Given the description of an element on the screen output the (x, y) to click on. 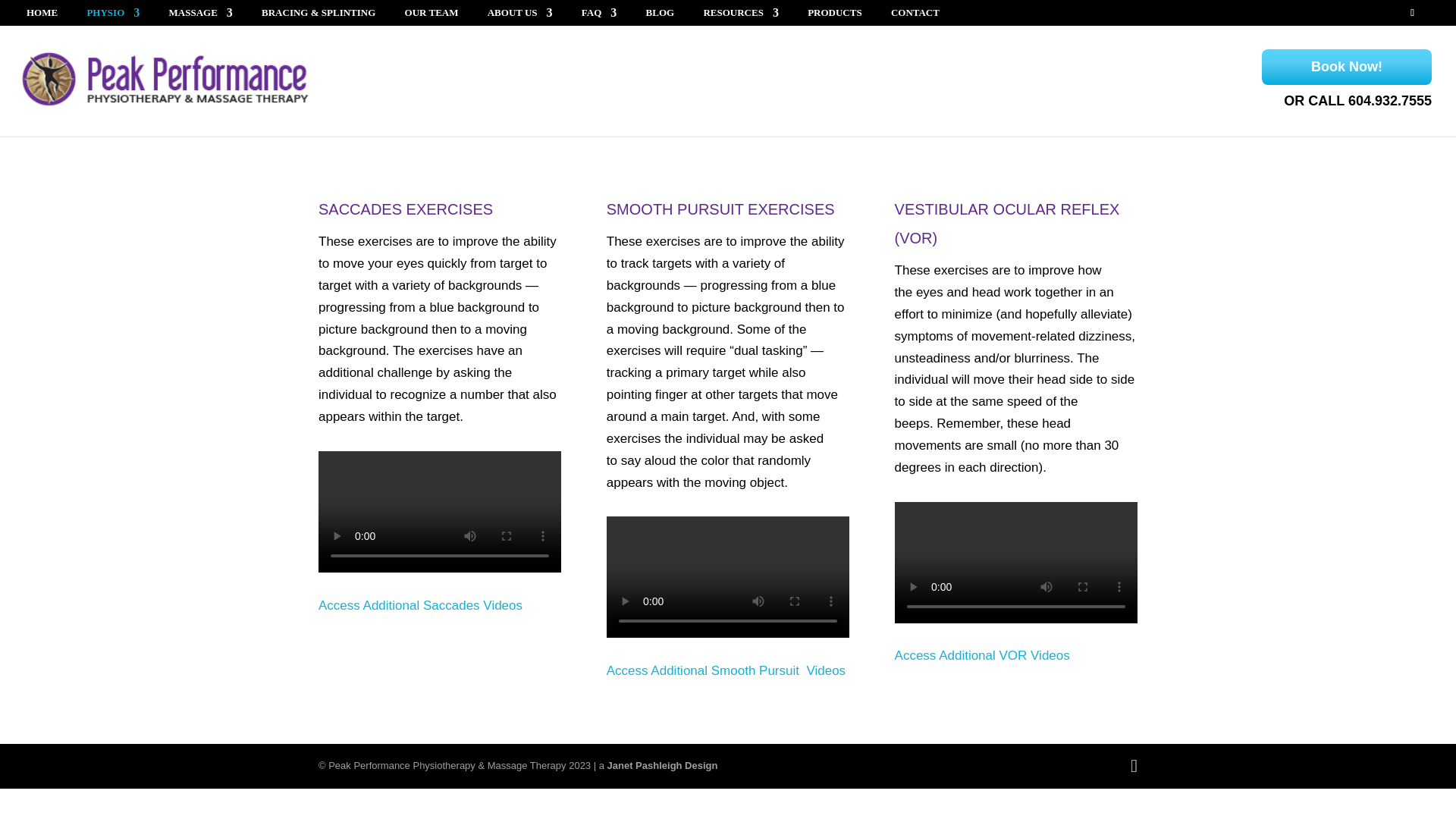
HOME (42, 16)
PHYSIO (112, 16)
FAQ (597, 16)
MASSAGE (200, 16)
OUR TEAM (431, 16)
ABOUT US (520, 16)
